Given the description of an element on the screen output the (x, y) to click on. 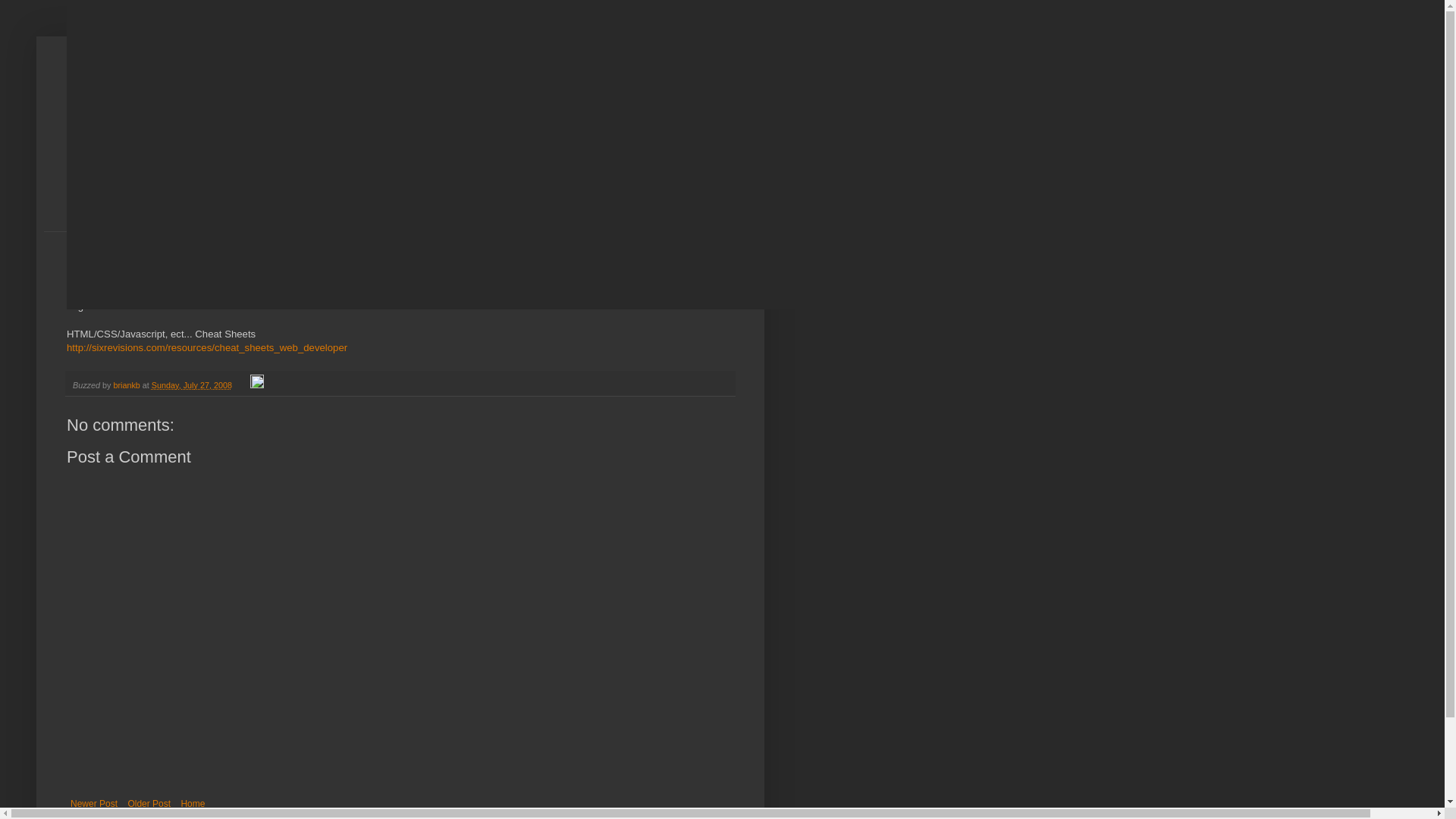
Newer Post (93, 803)
permanent link (191, 384)
Edit Post (256, 384)
Older Post (148, 803)
YouTube (210, 306)
Email Post (242, 384)
briankb (127, 384)
DeveloperBuzz (220, 116)
author profile (127, 384)
Newer Post (93, 803)
Home (192, 803)
Sunday, July 27, 2008 (191, 384)
Older Post (148, 803)
